Given the description of an element on the screen output the (x, y) to click on. 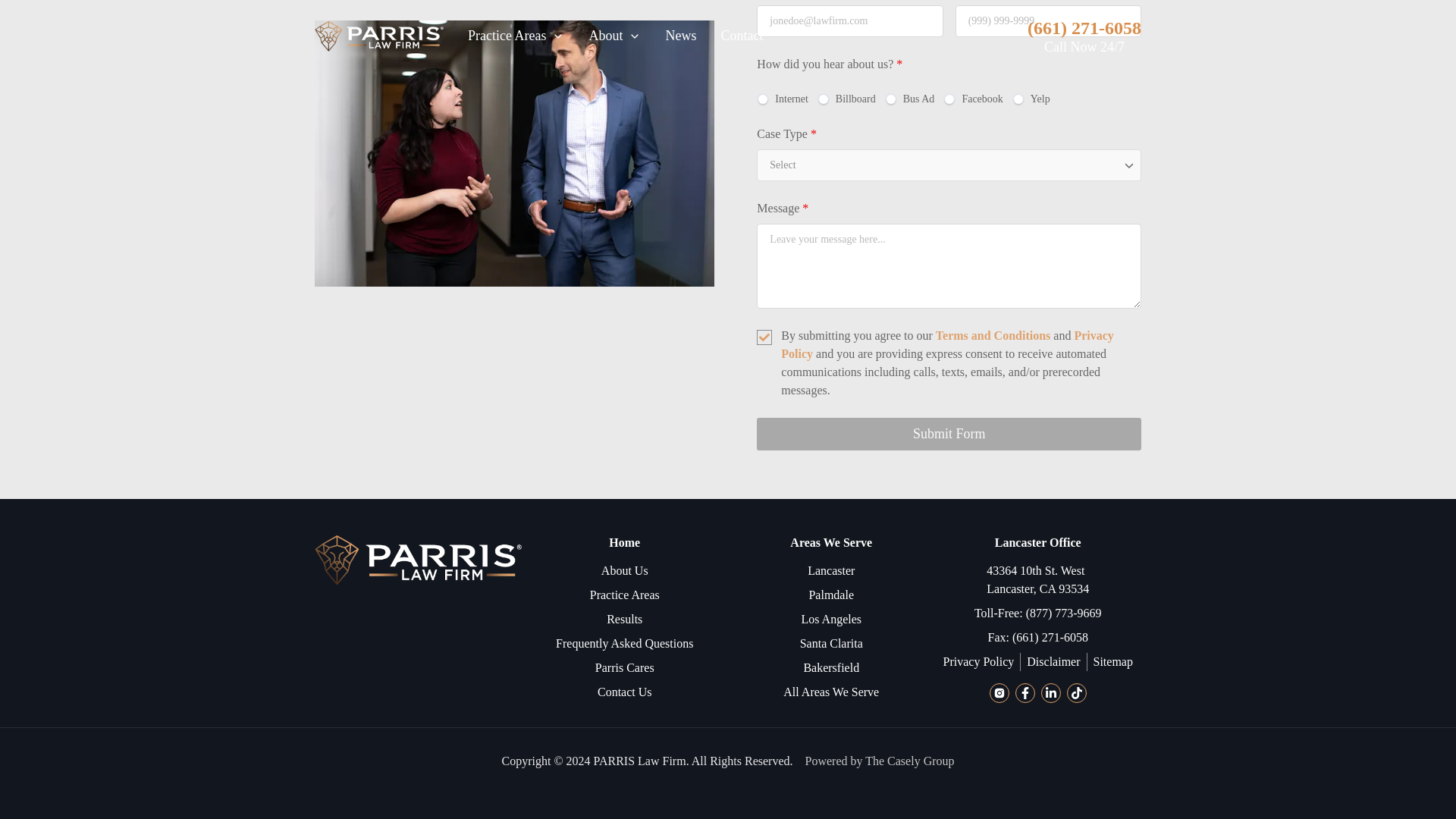
Lancaster (831, 570)
Terms and Conditions (992, 335)
All Areas We Serve (831, 692)
Contact Us (624, 692)
About Us (624, 570)
Frequently Asked Questions (624, 643)
Santa Clarita (831, 643)
Privacy Policy (946, 344)
Parris Cares (624, 668)
Practice Areas (624, 595)
